Given the description of an element on the screen output the (x, y) to click on. 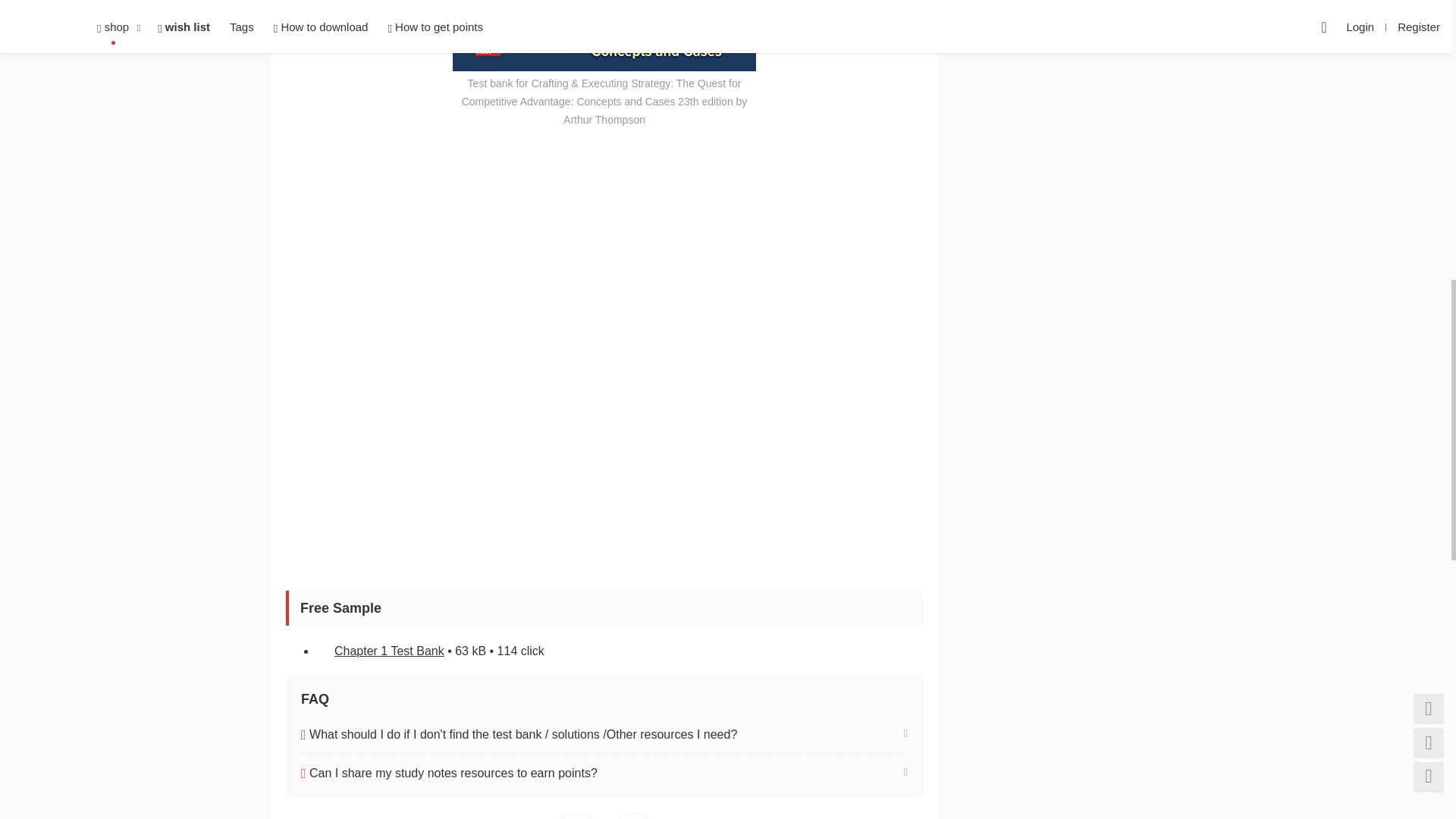
0 (575, 816)
0 (632, 816)
Collects (575, 816)
Chapter 1 Test Bank (389, 650)
